Given the description of an element on the screen output the (x, y) to click on. 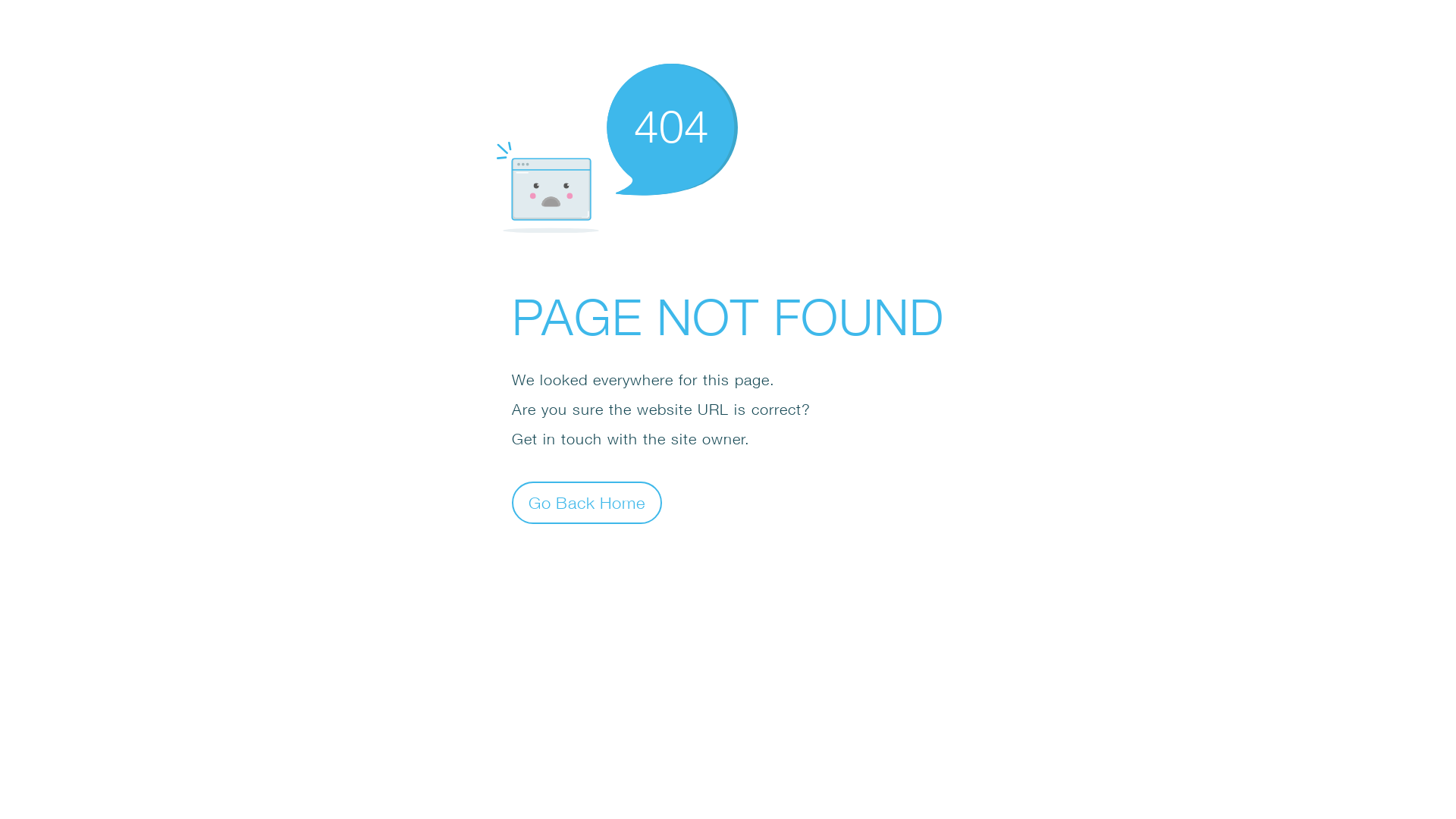
Go Back Home Element type: text (586, 502)
